Given the description of an element on the screen output the (x, y) to click on. 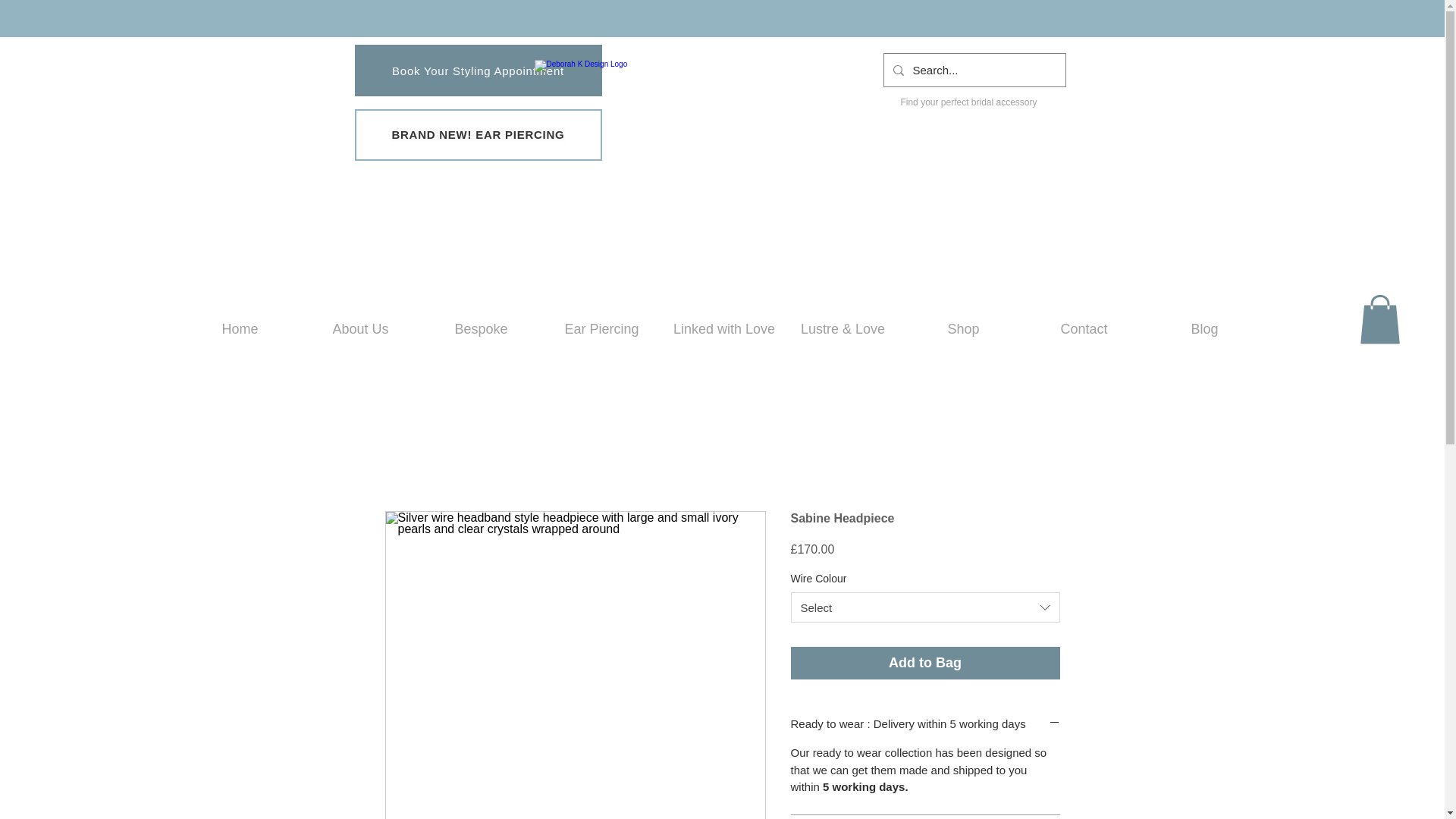
Blog (1204, 329)
Shop (962, 329)
Contact (1083, 329)
Linked with Love (722, 329)
Home (239, 329)
About Us (359, 329)
Ear Piercing (601, 329)
Bespoke (480, 329)
Book Your Styling Appointment (478, 70)
